Given the description of an element on the screen output the (x, y) to click on. 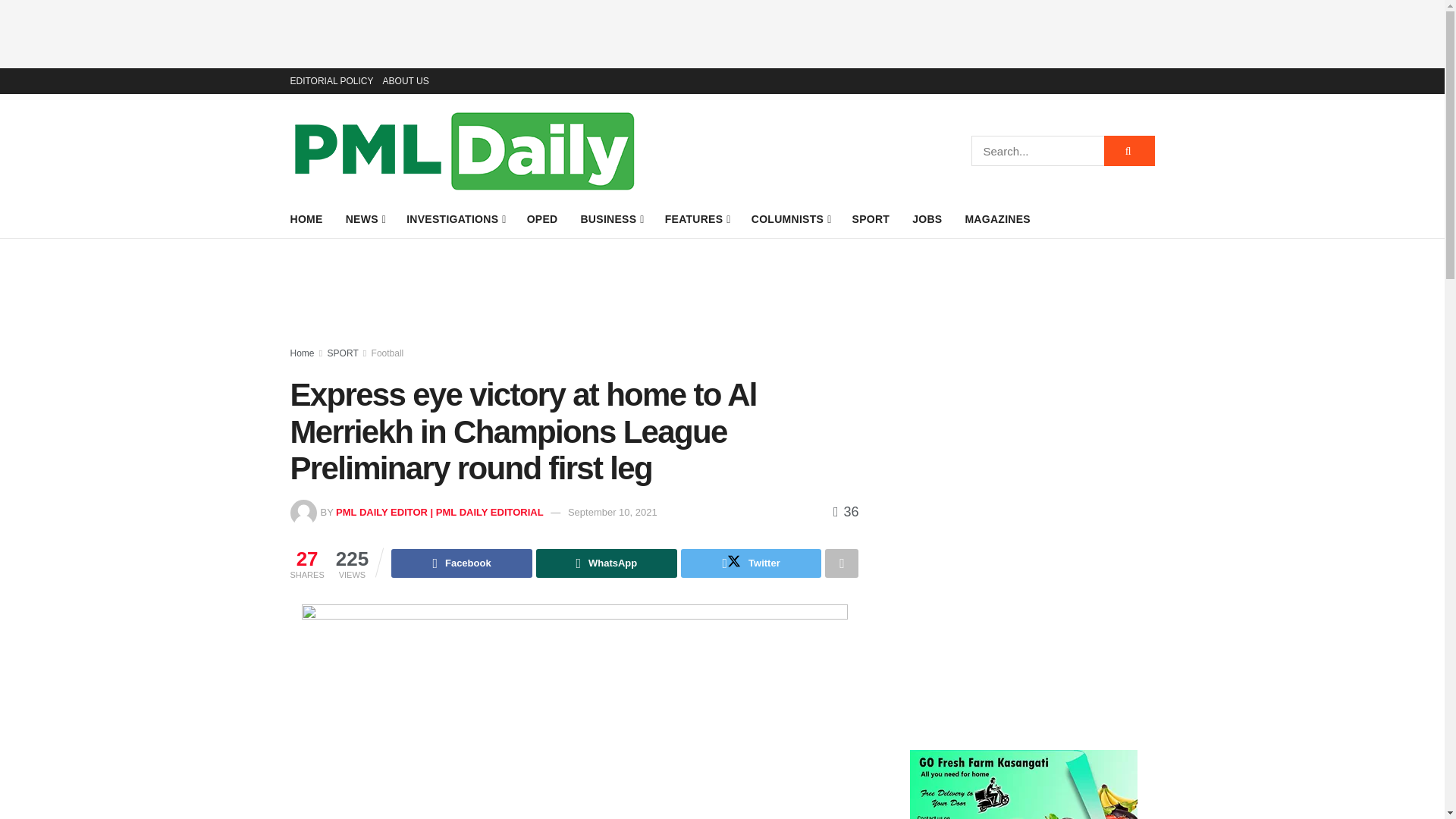
COLUMNISTS (790, 219)
EDITORIAL POLICY (330, 80)
JOBS (927, 219)
HOME (305, 219)
MAGAZINES (996, 219)
OPED (542, 219)
FEATURES (697, 219)
SPORT (870, 219)
NEWS (365, 219)
INVESTIGATIONS (454, 219)
BUSINESS (610, 219)
ABOUT US (405, 80)
